Given the description of an element on the screen output the (x, y) to click on. 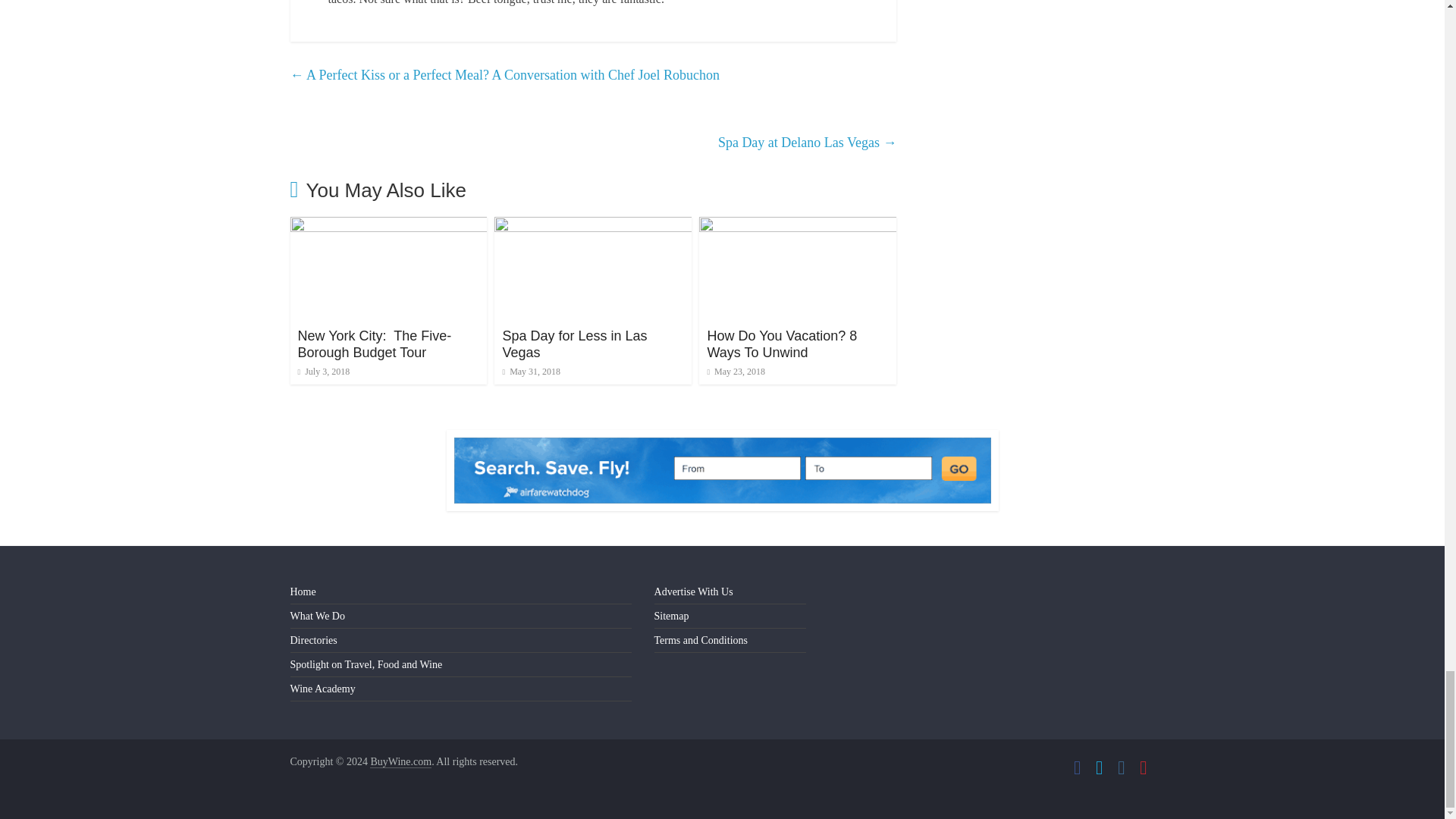
1:26 pm (735, 371)
How Do You Vacation?  8 Ways To Unwind (781, 344)
Spa Day for Less in Las Vegas (574, 344)
Spa Day for Less in Las Vegas (593, 226)
3:01 pm (323, 371)
How Do You Vacation?  8 Ways To Unwind (797, 226)
1:23 pm (531, 371)
